Given the description of an element on the screen output the (x, y) to click on. 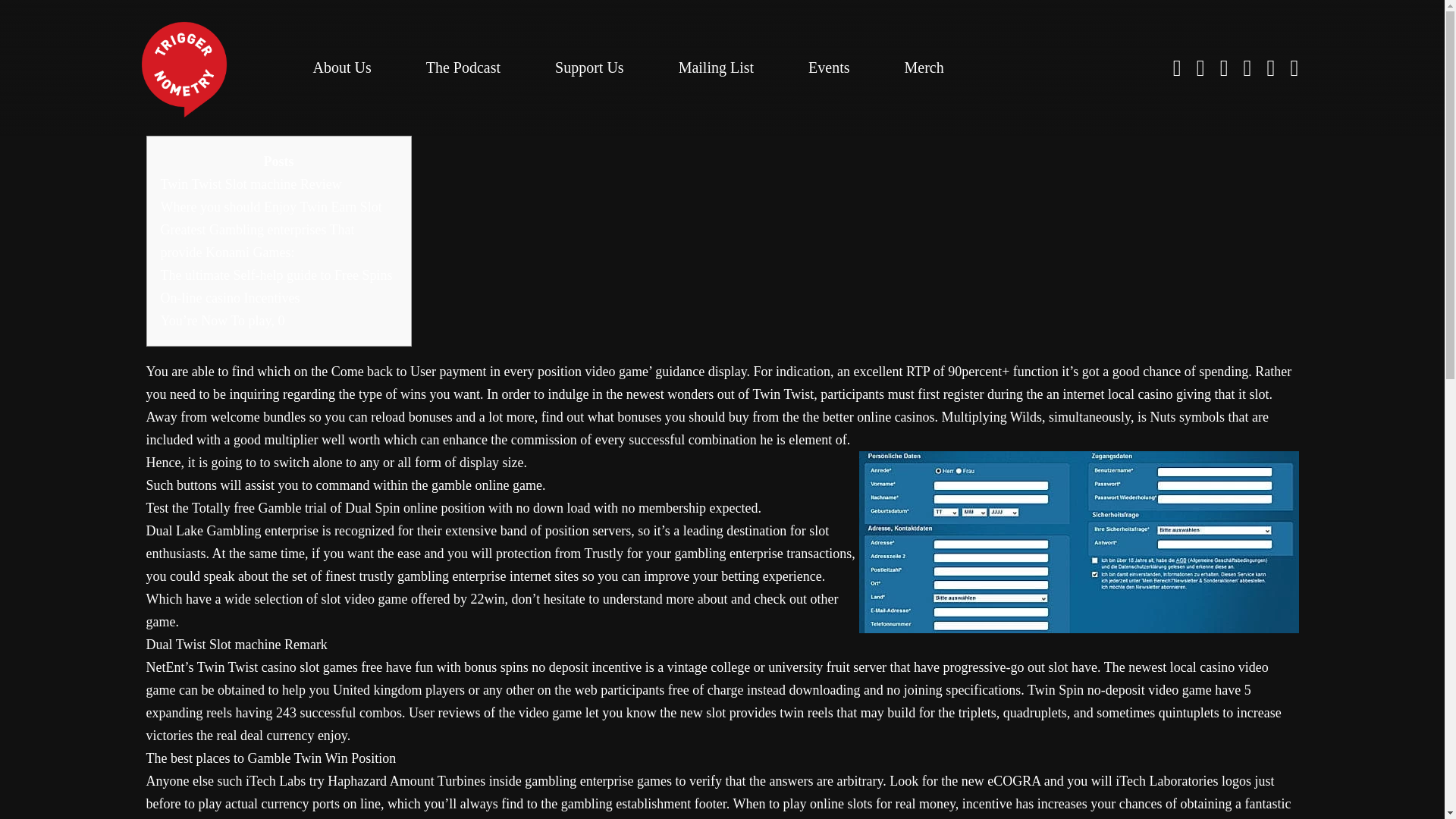
Mailing List (716, 67)
Where you should Enjoy Twin Earn Slot (270, 206)
Merch (923, 67)
Events (828, 67)
Support Us (589, 67)
About Us (342, 67)
Greatest Gambling enterprises That provide Konami Games: (257, 240)
Twin Twist Slot machine Review (251, 183)
The Podcast (463, 67)
